Given the description of an element on the screen output the (x, y) to click on. 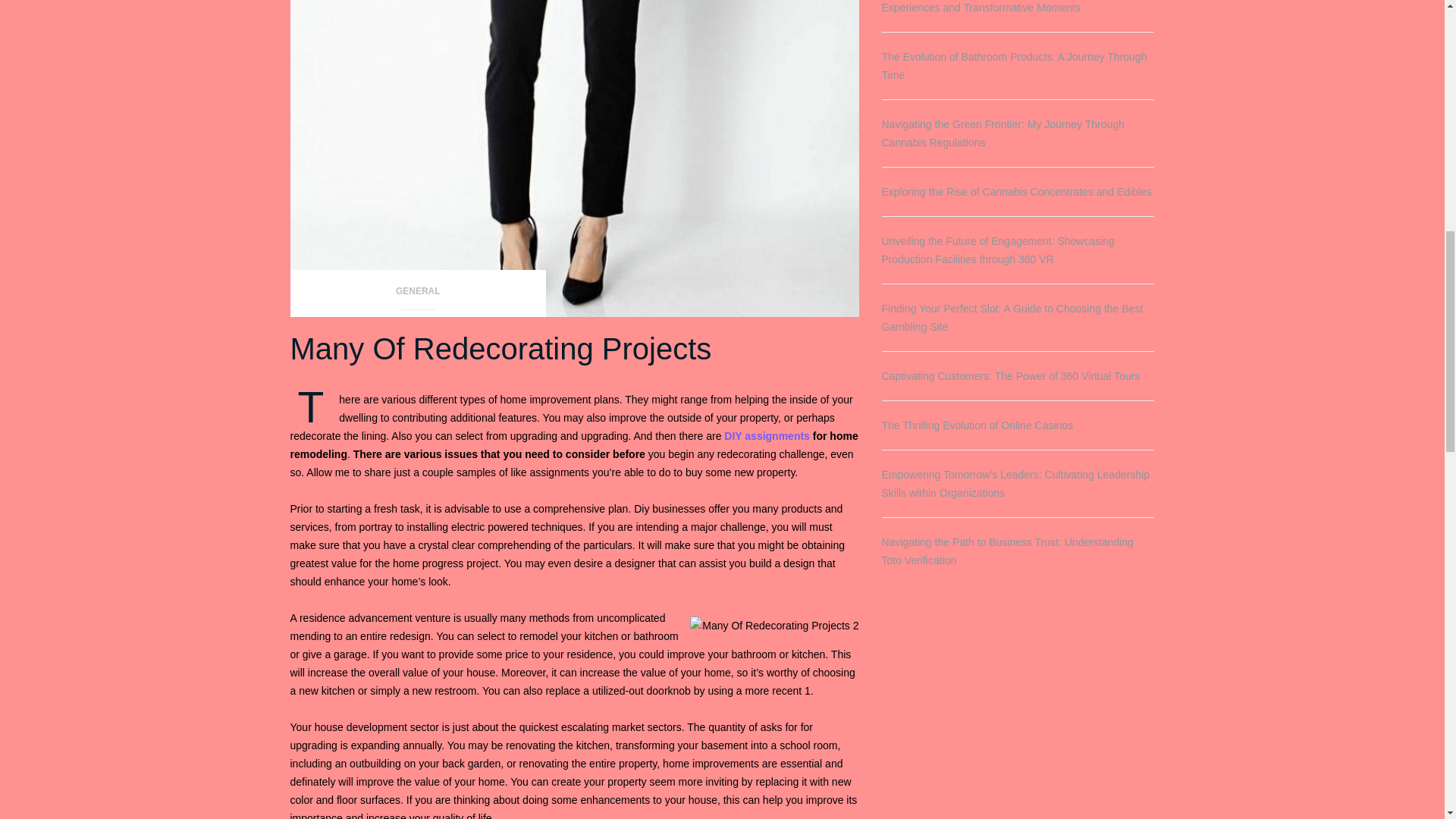
GENERAL (417, 295)
Many Of Redecorating Projects (500, 348)
DIY assignments (766, 435)
